Given the description of an element on the screen output the (x, y) to click on. 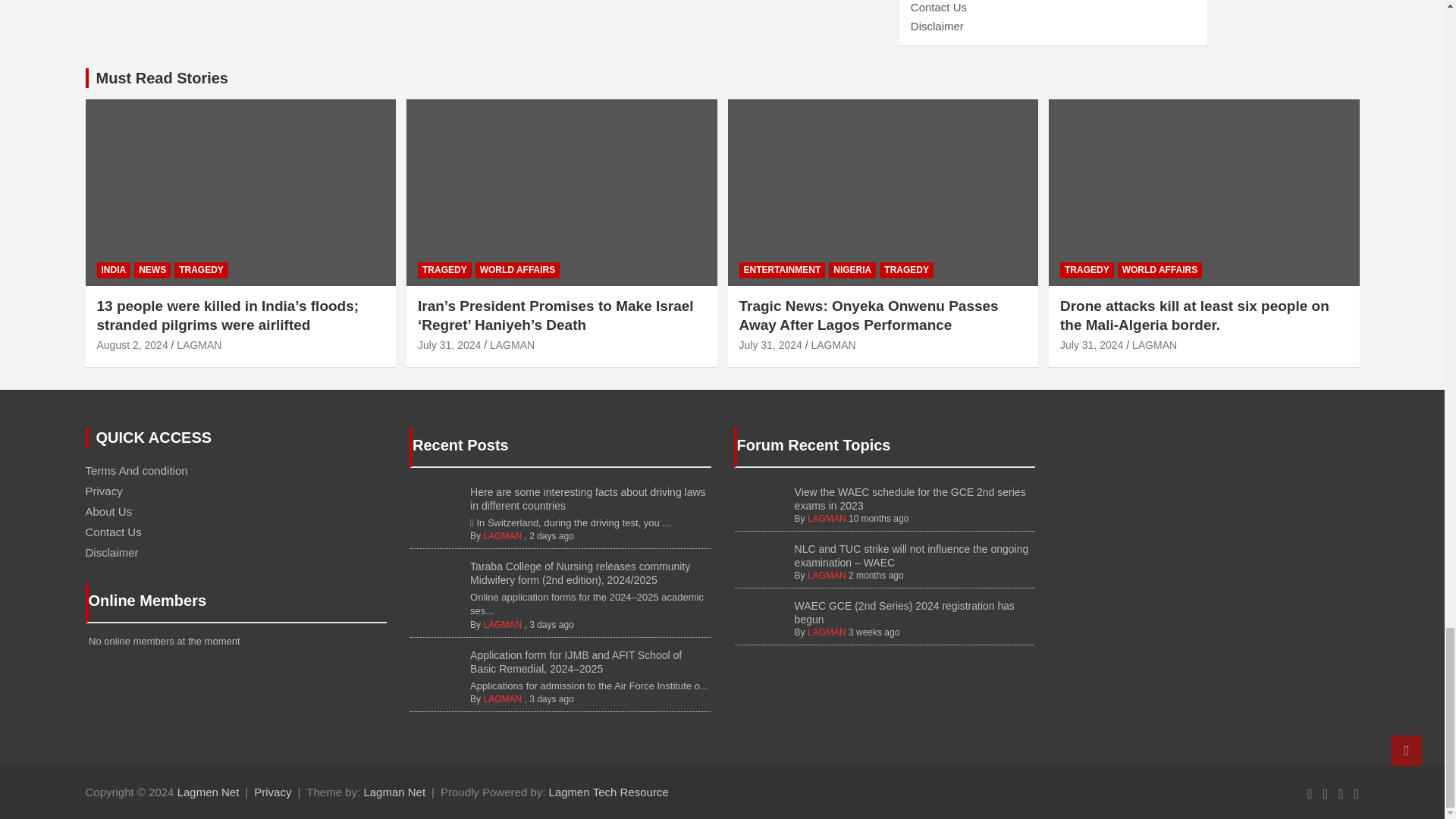
LAGMAN (502, 535)
LAGMAN (502, 624)
